Given the description of an element on the screen output the (x, y) to click on. 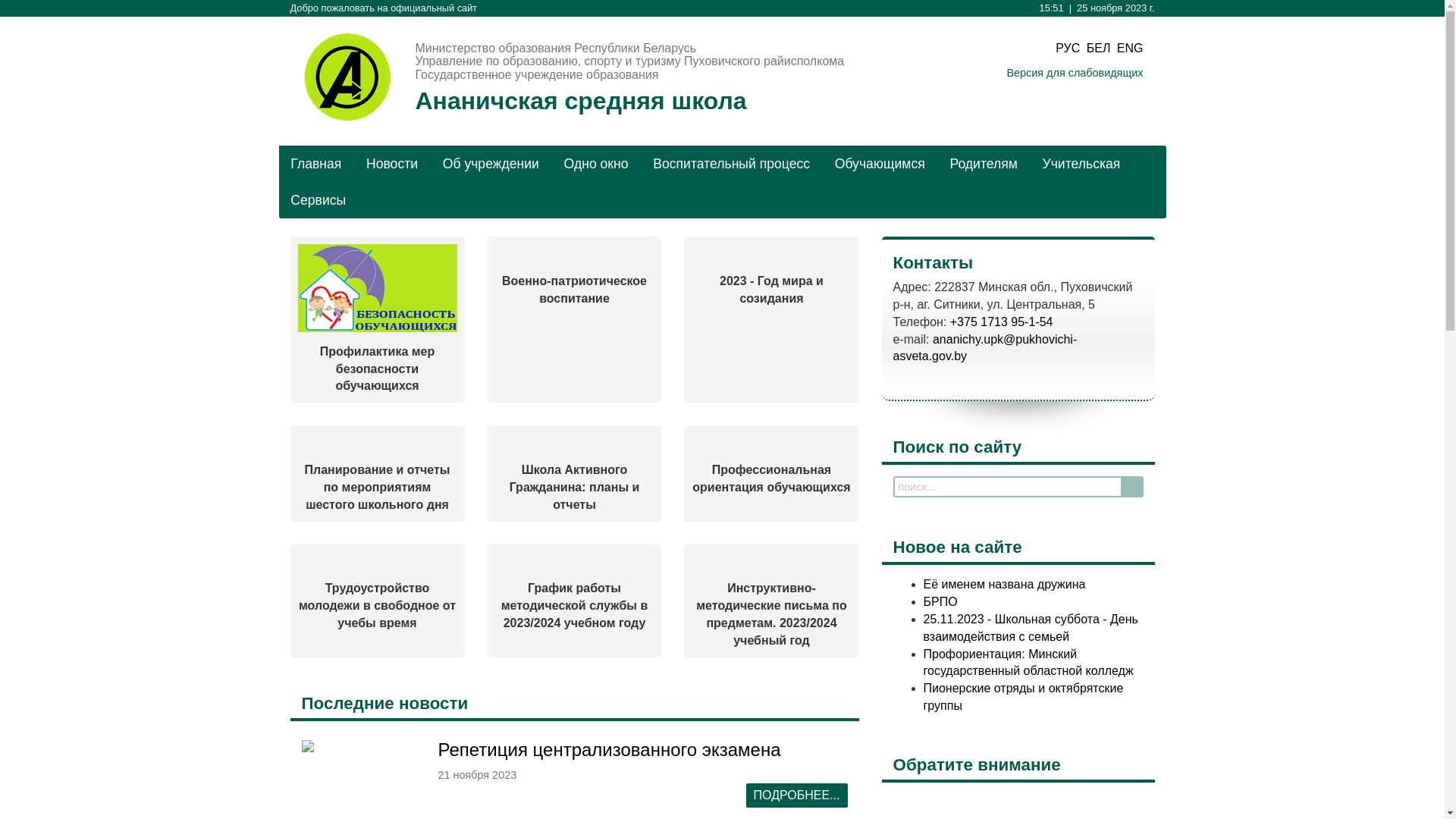
ananichy.upk@pukhovichi-asveta.gov.by Element type: text (985, 347)
+375 1713 95-1-54 Element type: text (1001, 321)
ENG Element type: text (1130, 48)
